Given the description of an element on the screen output the (x, y) to click on. 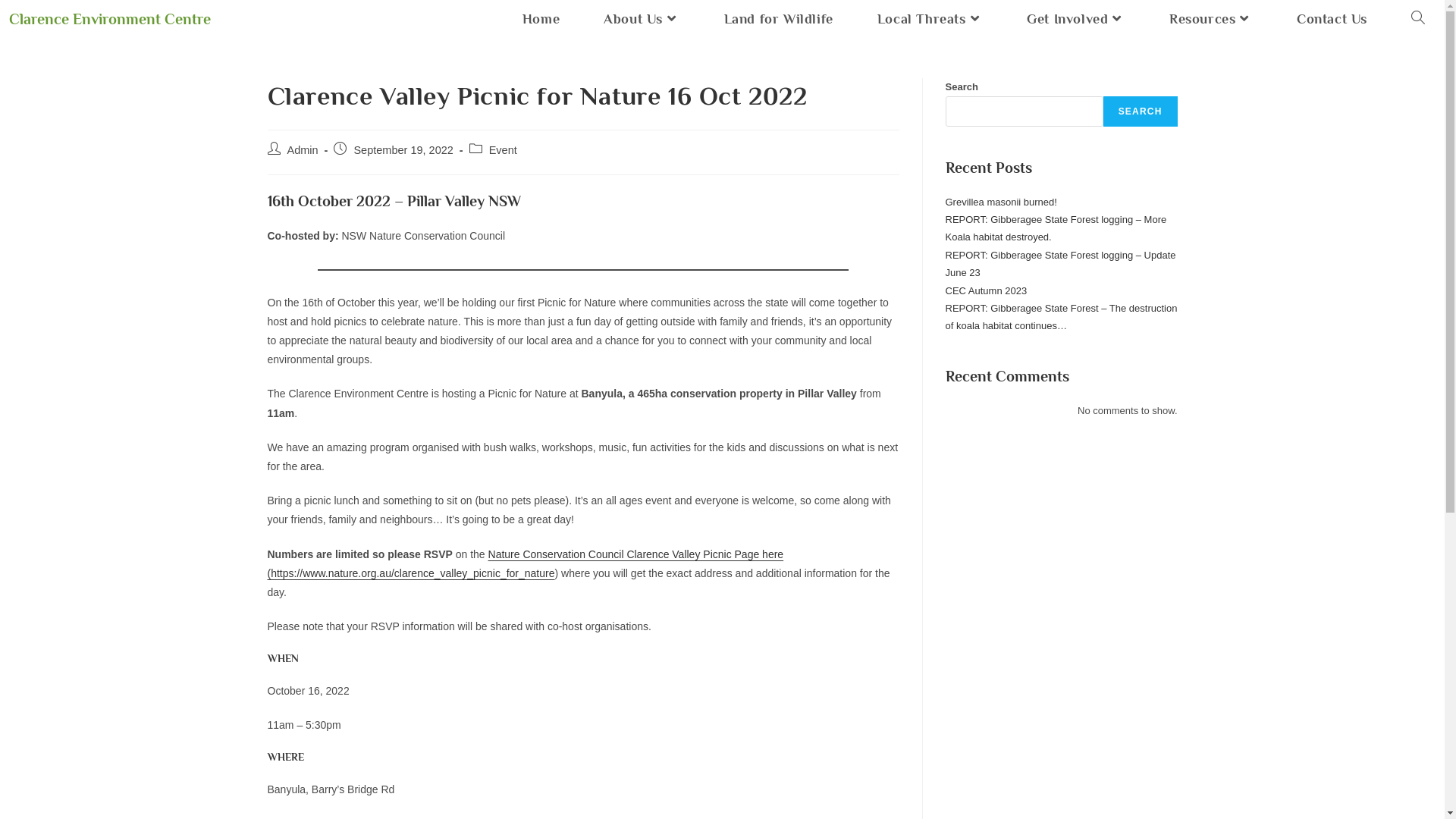
Contact Us Element type: text (1331, 19)
Home Element type: text (540, 19)
Get Involved Element type: text (1075, 19)
CEC Autumn 2023 Element type: text (985, 290)
Resources Element type: text (1210, 19)
Grevillea masonii burned! Element type: text (1000, 201)
Event Element type: text (503, 150)
SEARCH Element type: text (1140, 111)
Local Threats Element type: text (929, 19)
Land for Wildlife Element type: text (778, 19)
About Us Element type: text (641, 19)
Clarence Environment Centre Element type: text (109, 18)
Admin Element type: text (301, 150)
